Given the description of an element on the screen output the (x, y) to click on. 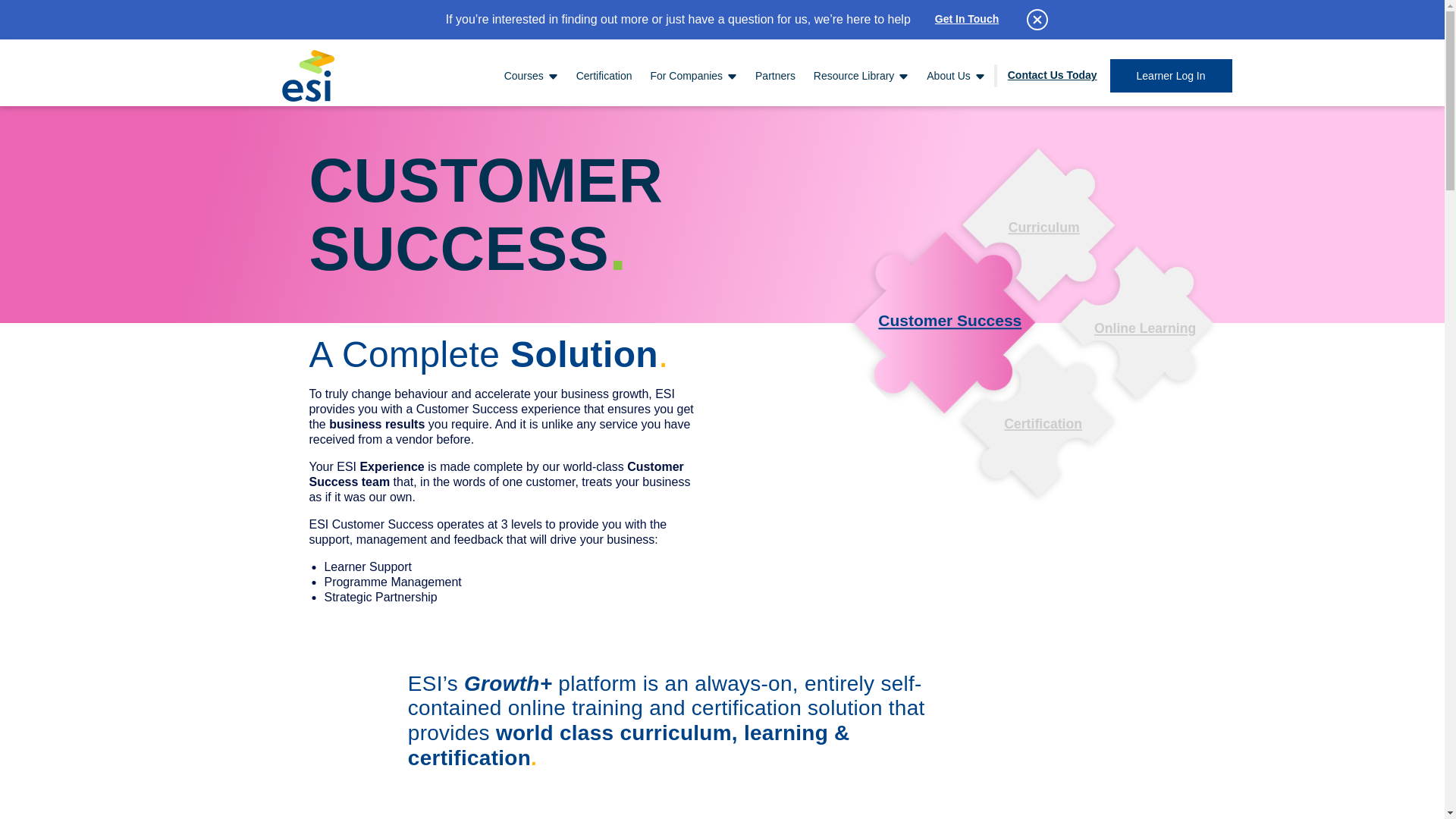
Certification (604, 75)
Customer Success (919, 293)
About Us (954, 75)
Online Learning (1125, 315)
Get In Touch (966, 19)
For Companies (694, 75)
Learner Log In (1170, 75)
Courses (531, 75)
Partners (775, 75)
Resource Library (861, 75)
